Given the description of an element on the screen output the (x, y) to click on. 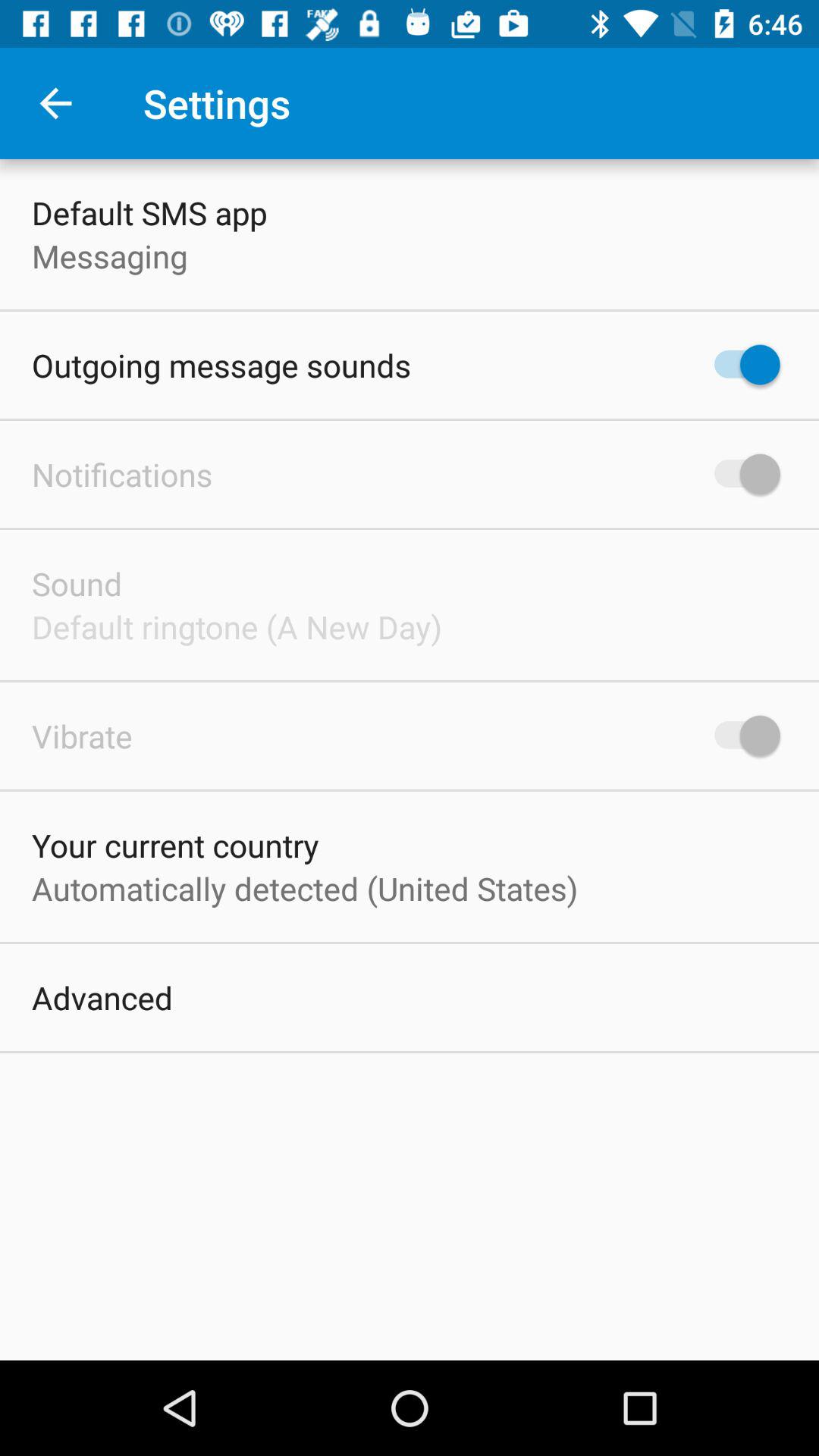
open outgoing message sounds item (221, 364)
